Given the description of an element on the screen output the (x, y) to click on. 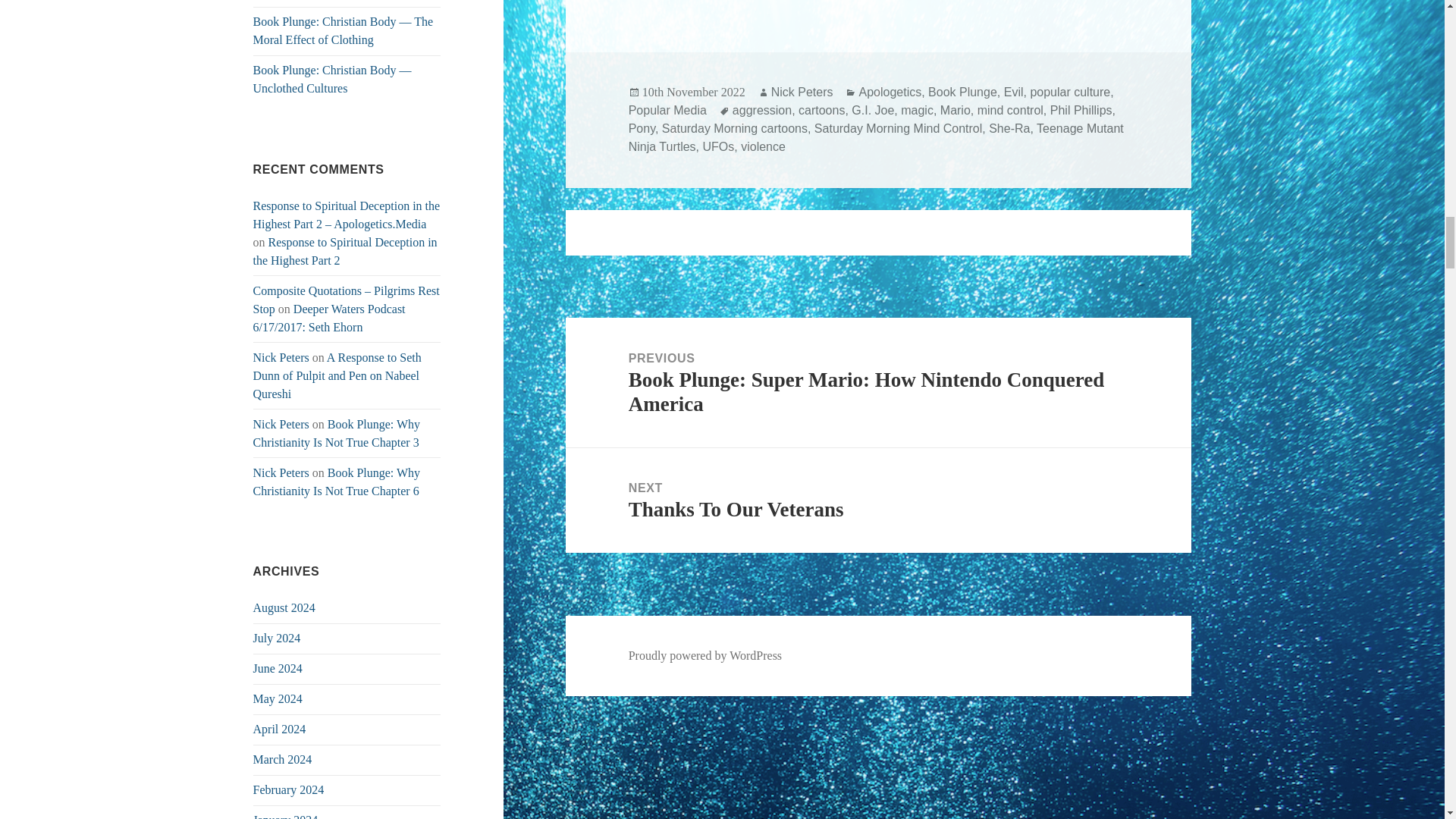
Response to Spiritual Deception in the Highest Part 2 (345, 250)
Book Plunge: Why Christianity Is Not True Chapter 3 (336, 432)
Nick Peters (280, 423)
A Response to Seth Dunn of Pulpit and Pen on Nabeel Qureshi (337, 375)
Nick Peters (280, 357)
